Given the description of an element on the screen output the (x, y) to click on. 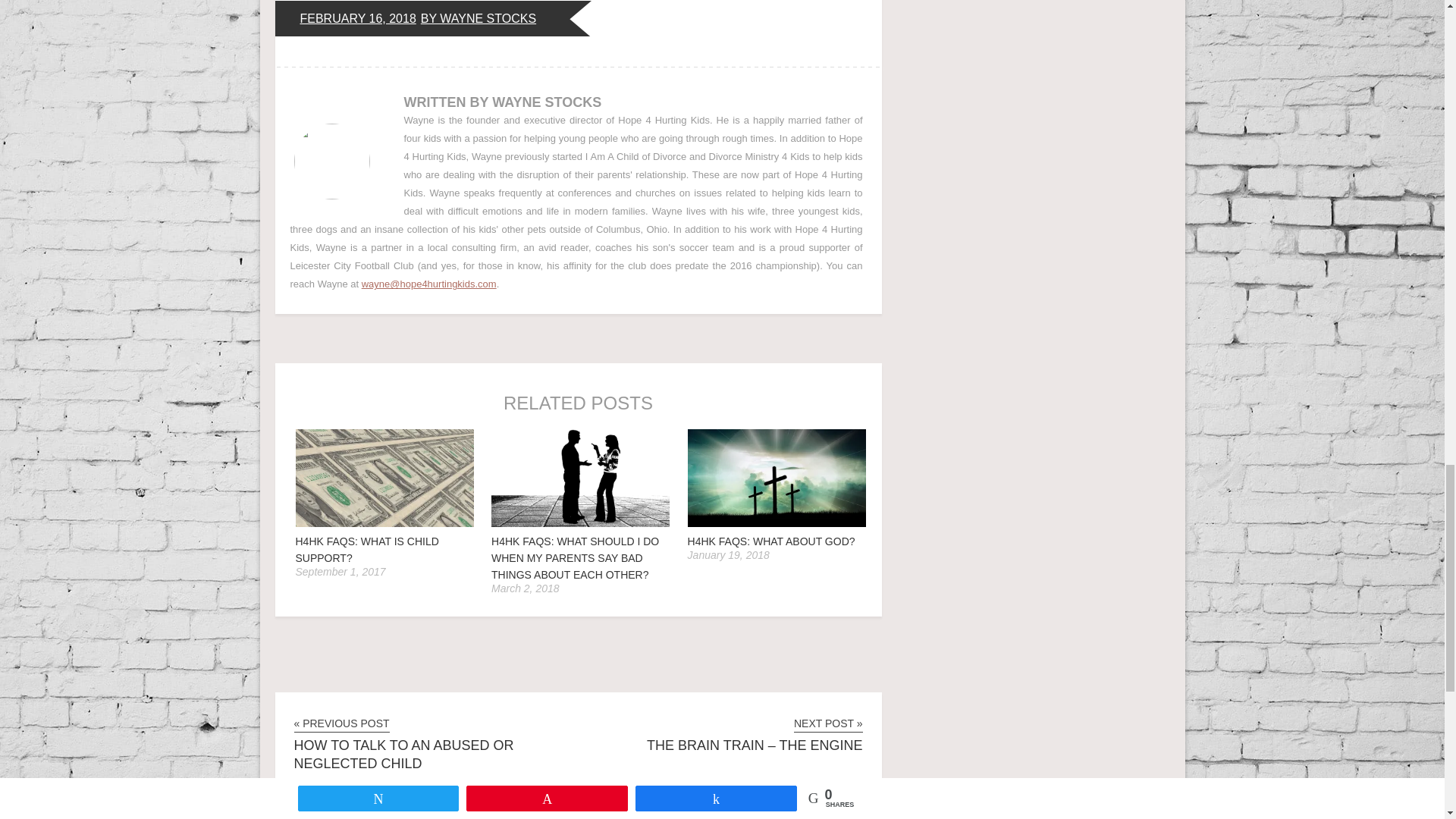
Permanent Link to H4HK FAQs: What About God? (771, 541)
Permanent Link to H4HK FAQs: What Is Child Support? (384, 523)
Permanent Link to H4HK FAQs: What About God? (776, 523)
Permanent Link to H4HK FAQs: What Is Child Support? (367, 549)
